Given the description of an element on the screen output the (x, y) to click on. 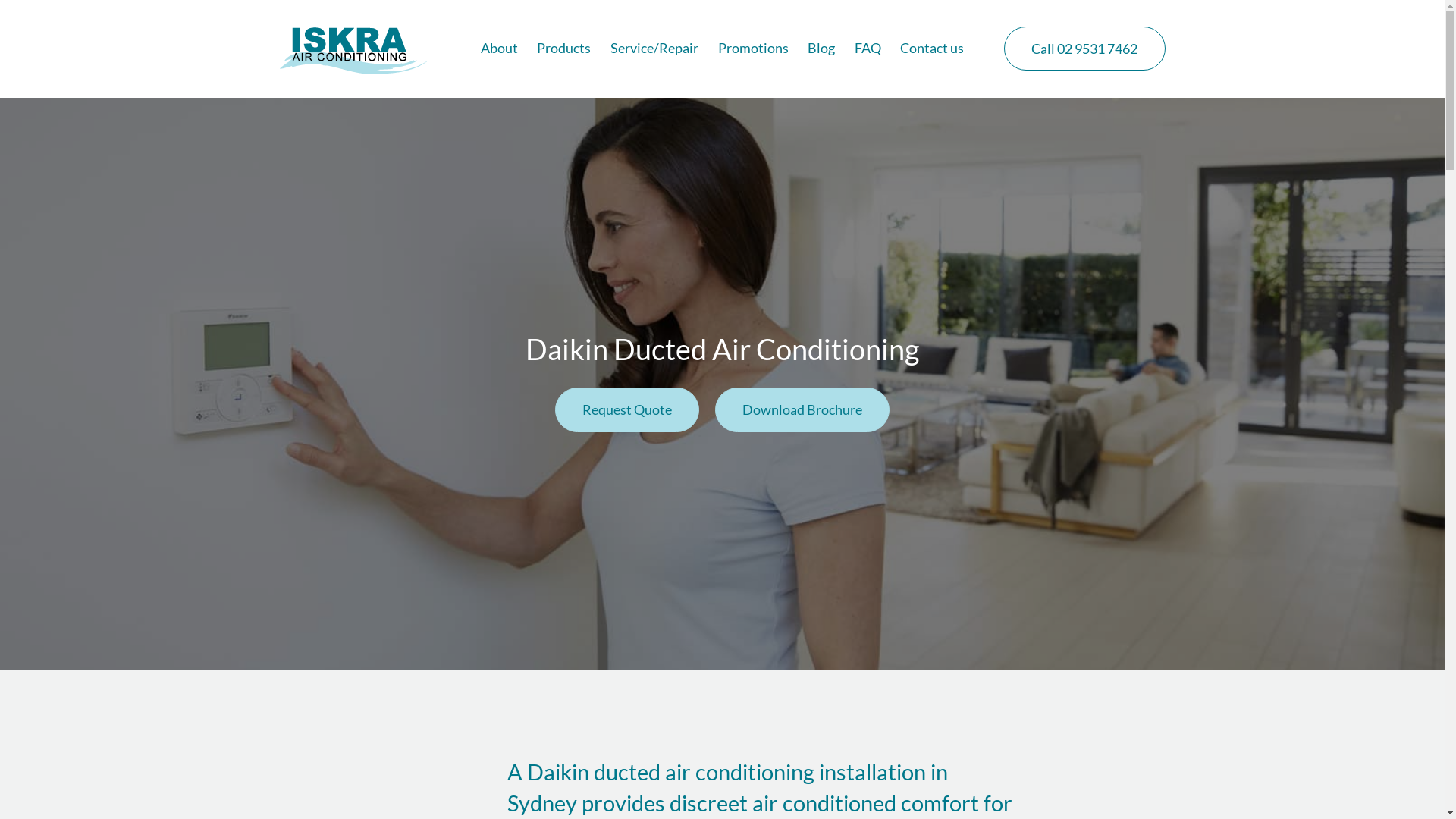
FAQ Element type: text (867, 48)
Products Element type: text (563, 48)
Download Brochure Element type: text (802, 409)
Call 02 9531 7462 Element type: text (1084, 48)
Blog Element type: text (820, 48)
Service/Repair Element type: text (654, 48)
About Element type: text (498, 48)
Request Quote Element type: text (627, 409)
Contact us Element type: text (931, 48)
Promotions Element type: text (752, 48)
